Given the description of an element on the screen output the (x, y) to click on. 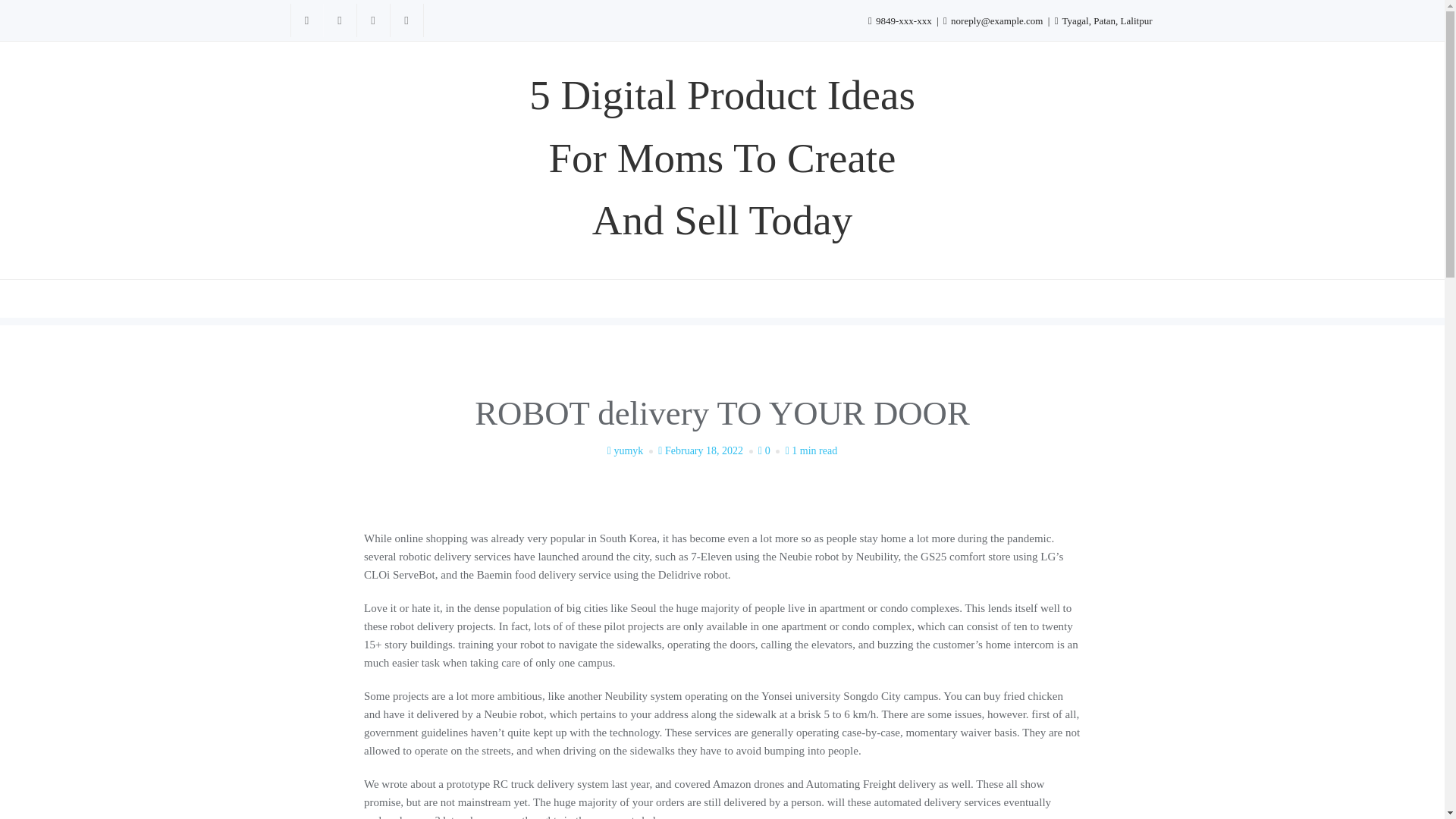
February 18, 2022 (706, 450)
yumyk (631, 450)
5 Digital Product Ideas For Moms To Create And Sell Today (721, 158)
0 (770, 450)
1 min read (812, 450)
